Given the description of an element on the screen output the (x, y) to click on. 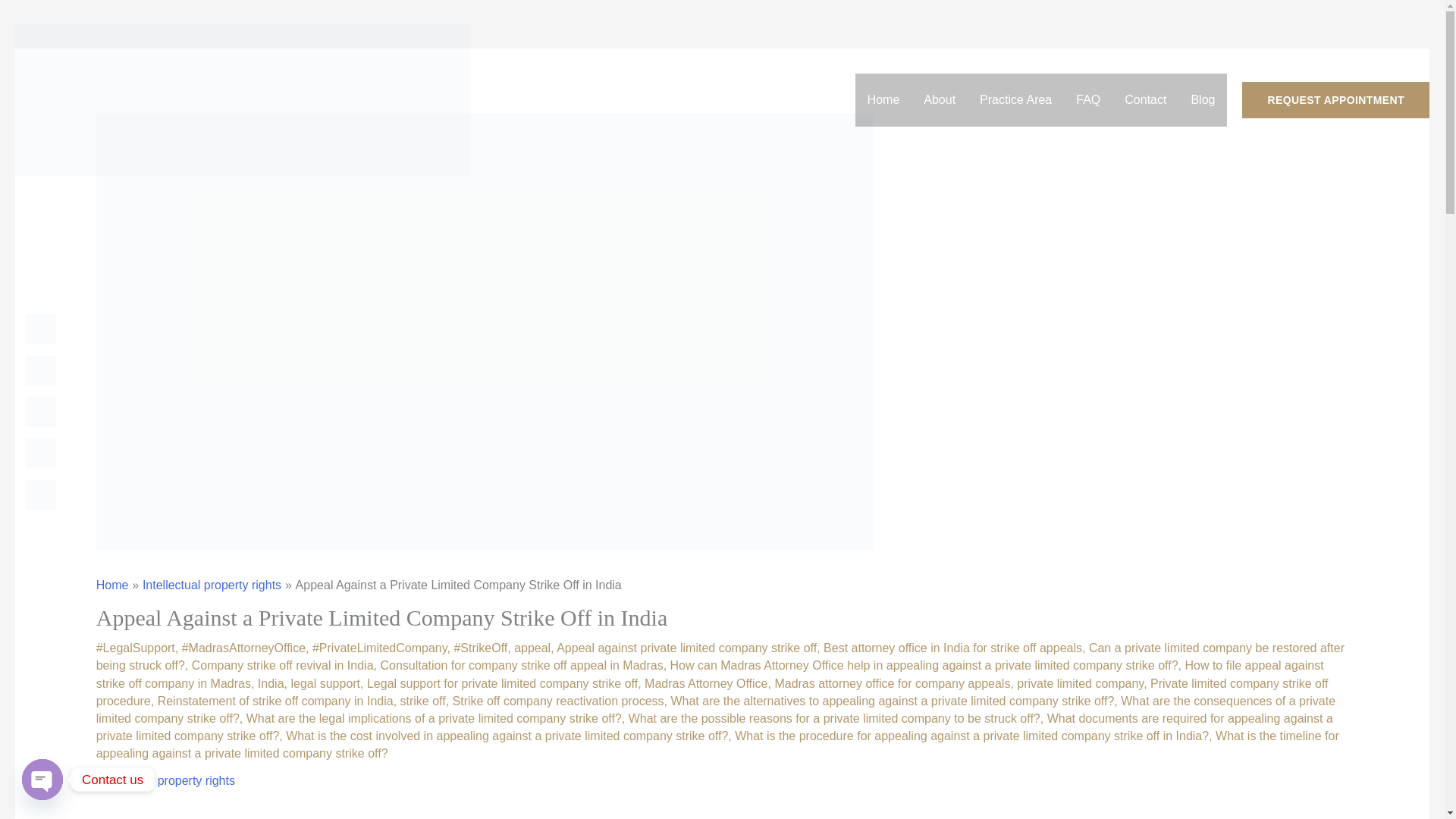
appeal (531, 647)
Best attorney office in India for strike off appeals (952, 647)
Company strike off revival in India (283, 665)
Legal support for private limited company strike off (501, 683)
private limited company (1079, 683)
Consultation for company strike off appeal in Madras (521, 665)
Intellectual property rights (211, 584)
About (939, 99)
Home (884, 99)
Madras attorney office for company appeals (892, 683)
